Given the description of an element on the screen output the (x, y) to click on. 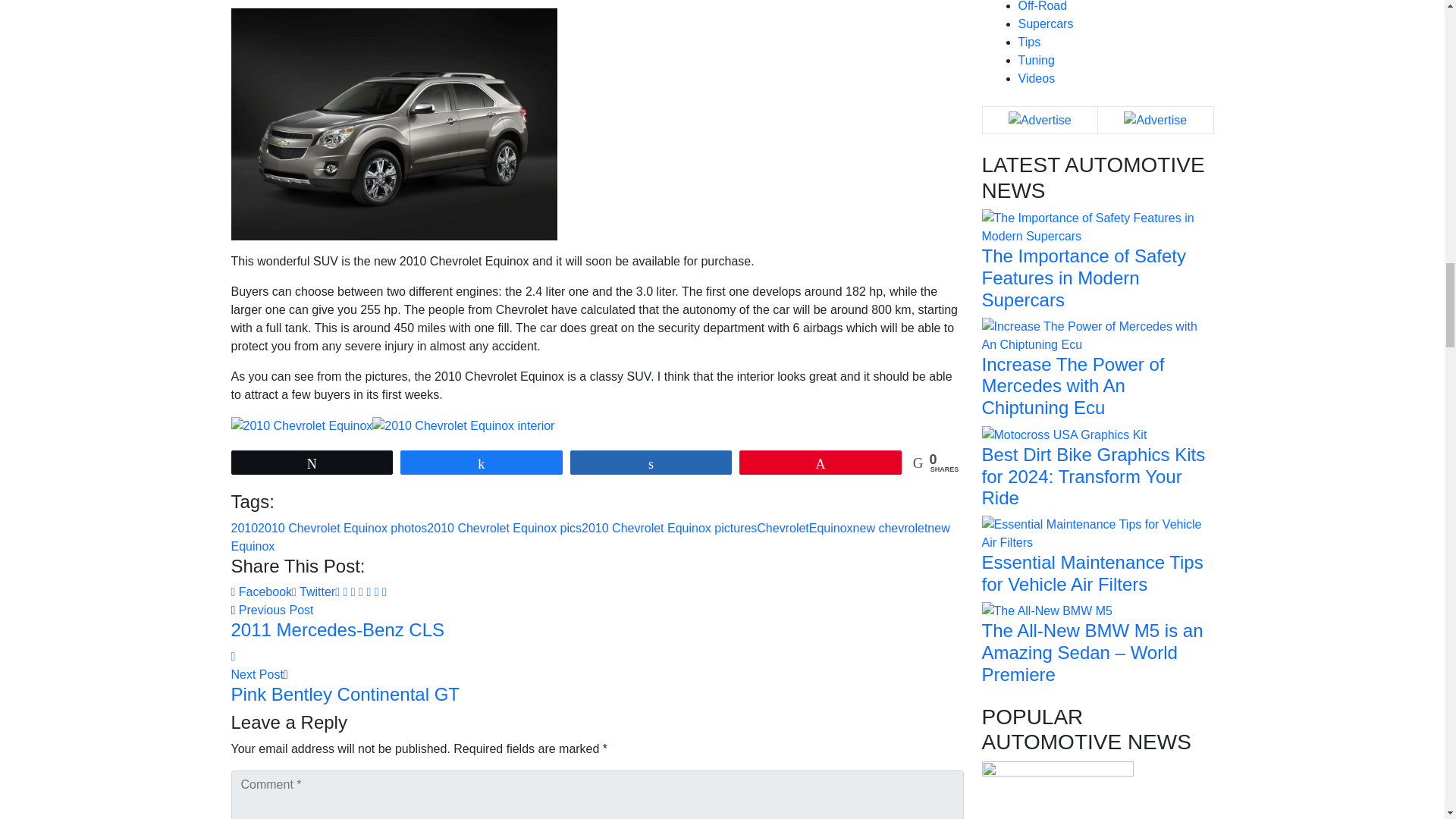
Advertise (1040, 119)
Essential Maintenance Tips for Vehicle Air Filters (1096, 532)
The Importance of Safety Features in Modern Supercars (1096, 226)
Increase The Power of Mercedes with An Chiptuning Ecu (1096, 334)
Advertise (1155, 119)
Best Dirt Bike Graphics Kits for 2024: Transform Your Ride (1064, 433)
